Given the description of an element on the screen output the (x, y) to click on. 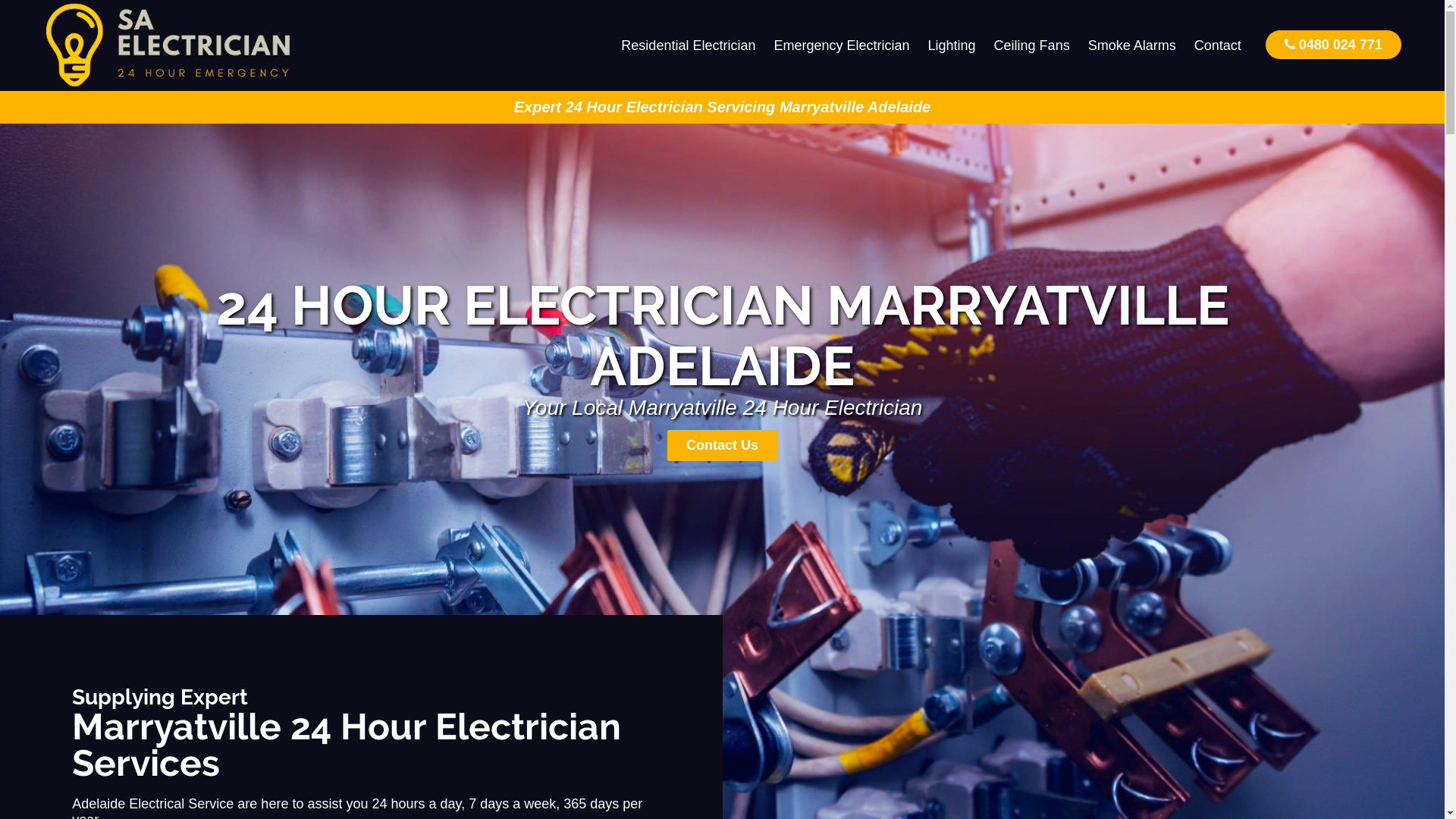
Contact Us Element type: text (722, 445)
Smoke Alarms Element type: text (1132, 45)
Lighting Element type: text (952, 45)
Contact Element type: text (1217, 45)
0480 024 771 Element type: text (1333, 44)
Emergency Electrician Element type: text (841, 45)
Ceiling Fans Element type: text (1032, 45)
Residential Electrician Element type: text (687, 45)
